Given the description of an element on the screen output the (x, y) to click on. 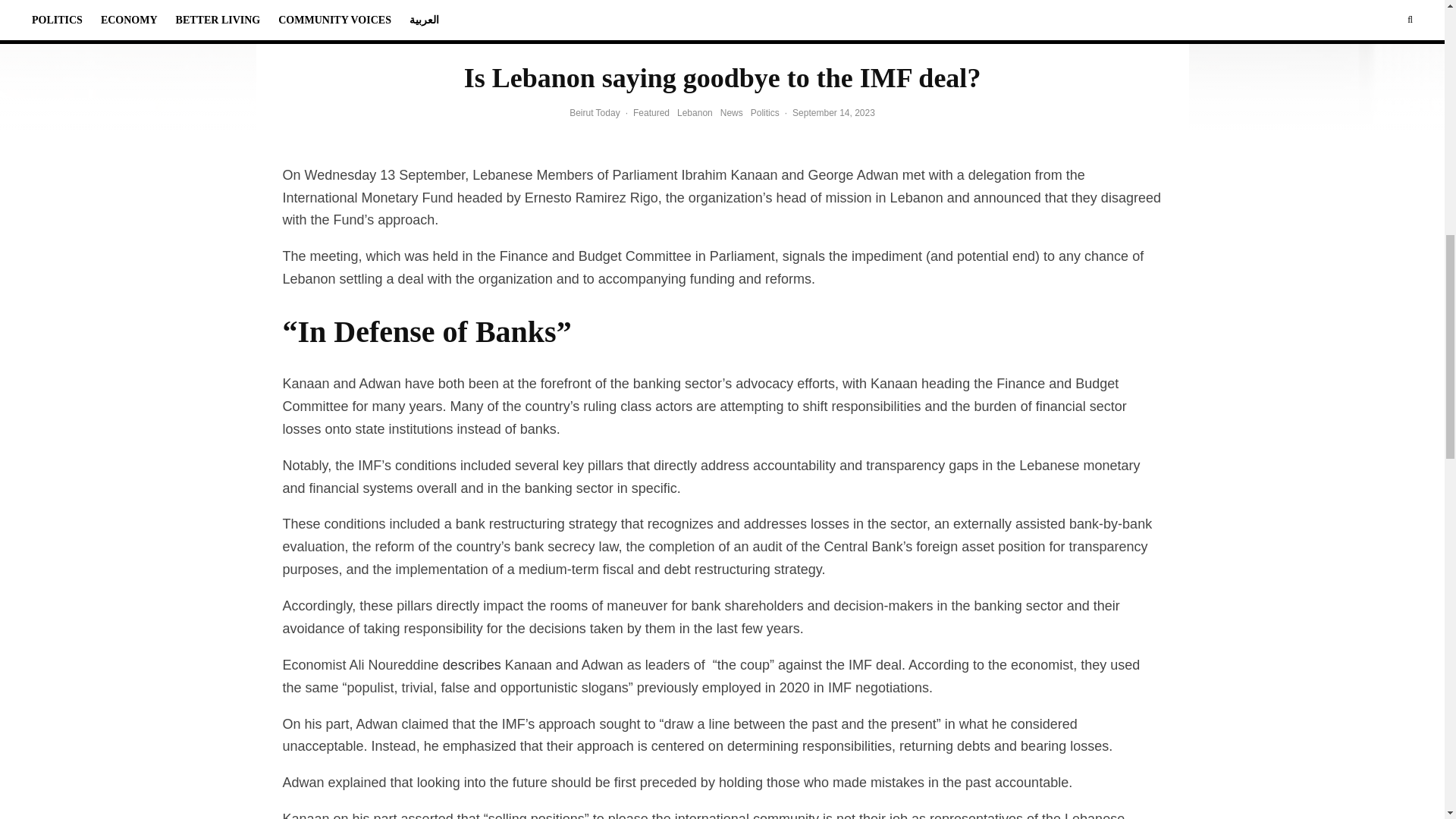
Beirut Today (594, 112)
News (731, 113)
Lebanon (695, 113)
loveaholics login (679, 35)
Politics (764, 113)
Featured (651, 113)
describes (469, 664)
cougars.com dating (755, 35)
